Given the description of an element on the screen output the (x, y) to click on. 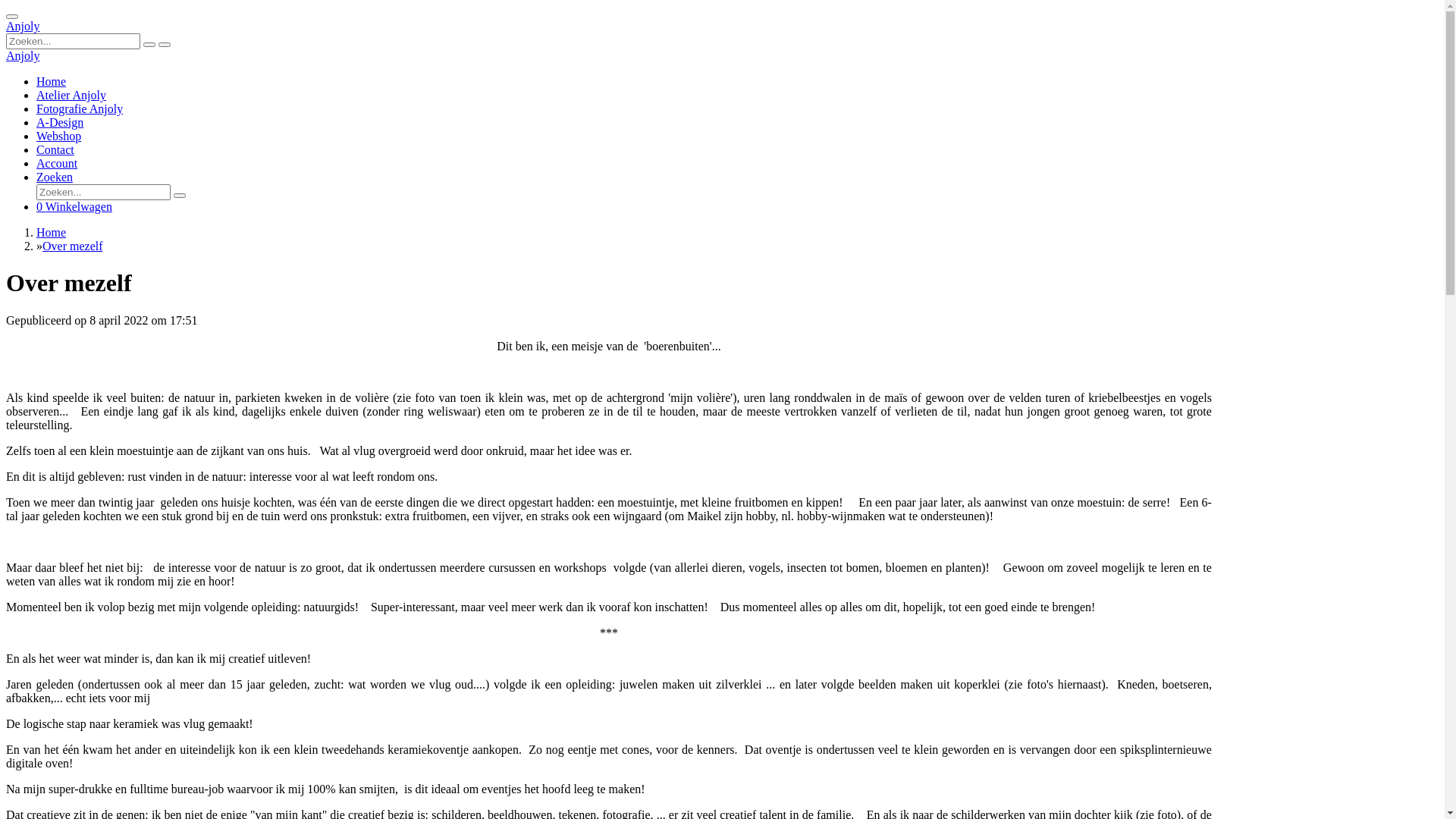
Anjoly Element type: text (22, 55)
Home Element type: text (50, 231)
Home Element type: text (50, 81)
Webshop Element type: text (58, 135)
Over mezelf Element type: text (72, 245)
A-Design Element type: text (59, 122)
Account Element type: text (56, 162)
Atelier Anjoly Element type: text (71, 94)
Anjoly Element type: text (22, 25)
Contact Element type: text (55, 149)
0 Winkelwagen Element type: text (74, 206)
Zoeken Element type: text (54, 176)
Fotografie Anjoly Element type: text (79, 108)
